Given the description of an element on the screen output the (x, y) to click on. 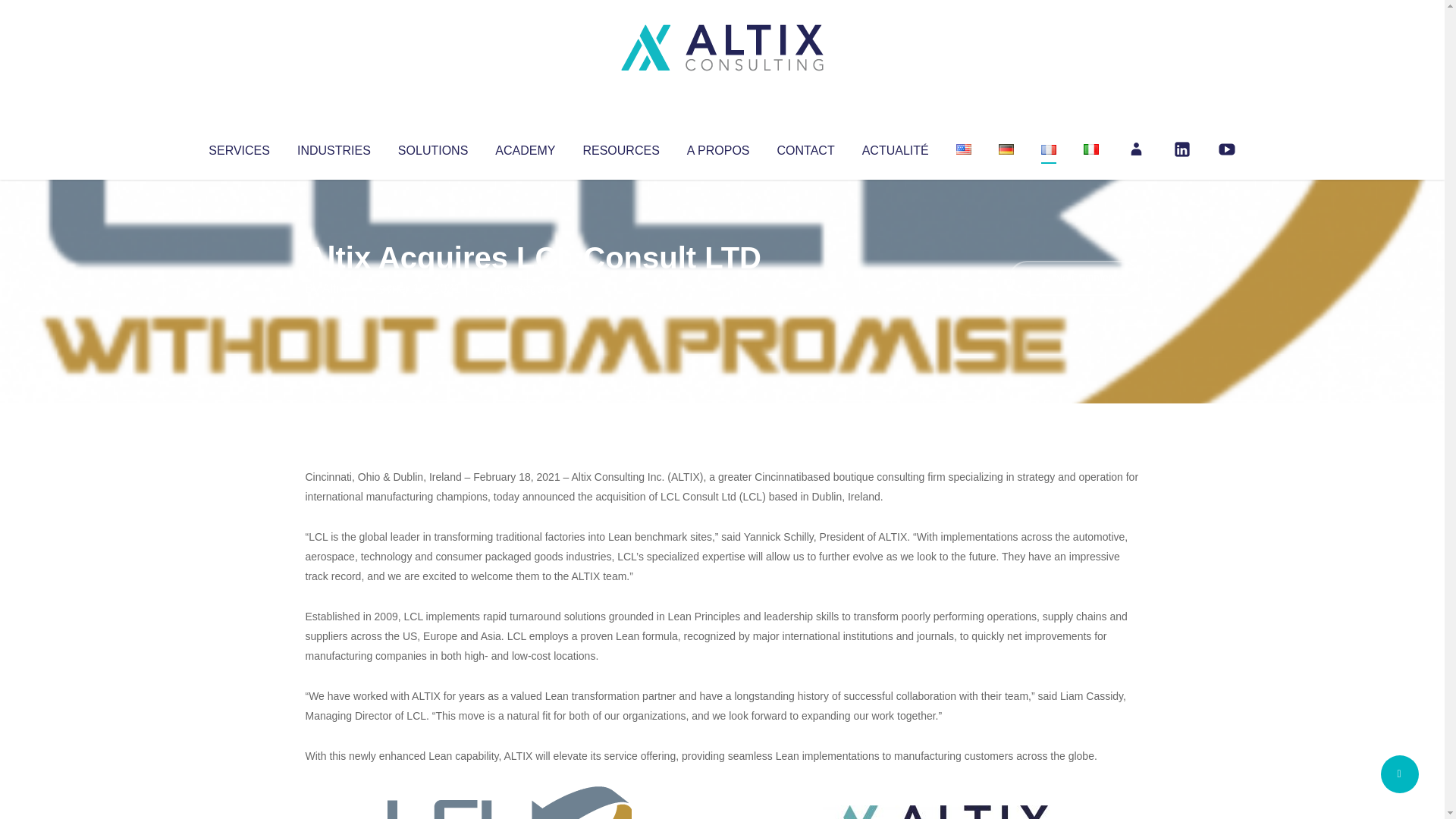
No Comments (1073, 278)
Altix (333, 287)
SERVICES (238, 146)
RESOURCES (620, 146)
ACADEMY (524, 146)
SOLUTIONS (432, 146)
Articles par Altix (333, 287)
Uncategorized (530, 287)
A PROPOS (718, 146)
INDUSTRIES (334, 146)
